Given the description of an element on the screen output the (x, y) to click on. 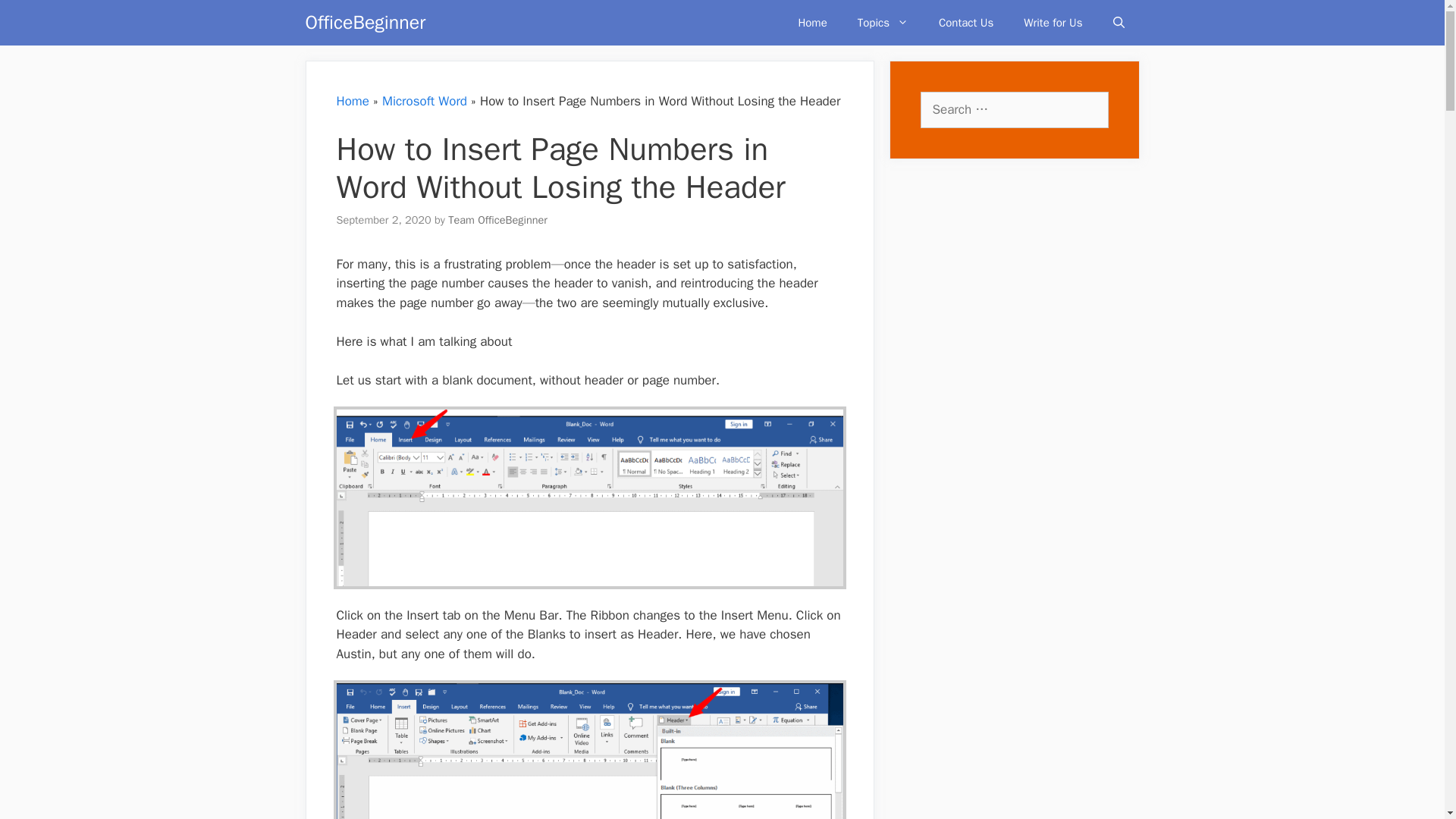
Topics (883, 22)
Team OfficeBeginner (497, 219)
Write for Us (1053, 22)
Home (352, 100)
Microsoft Word (424, 100)
Home (812, 22)
Contact Us (966, 22)
Search for: (1014, 109)
OfficeBeginner (364, 22)
View all posts by Team OfficeBeginner (497, 219)
